Given the description of an element on the screen output the (x, y) to click on. 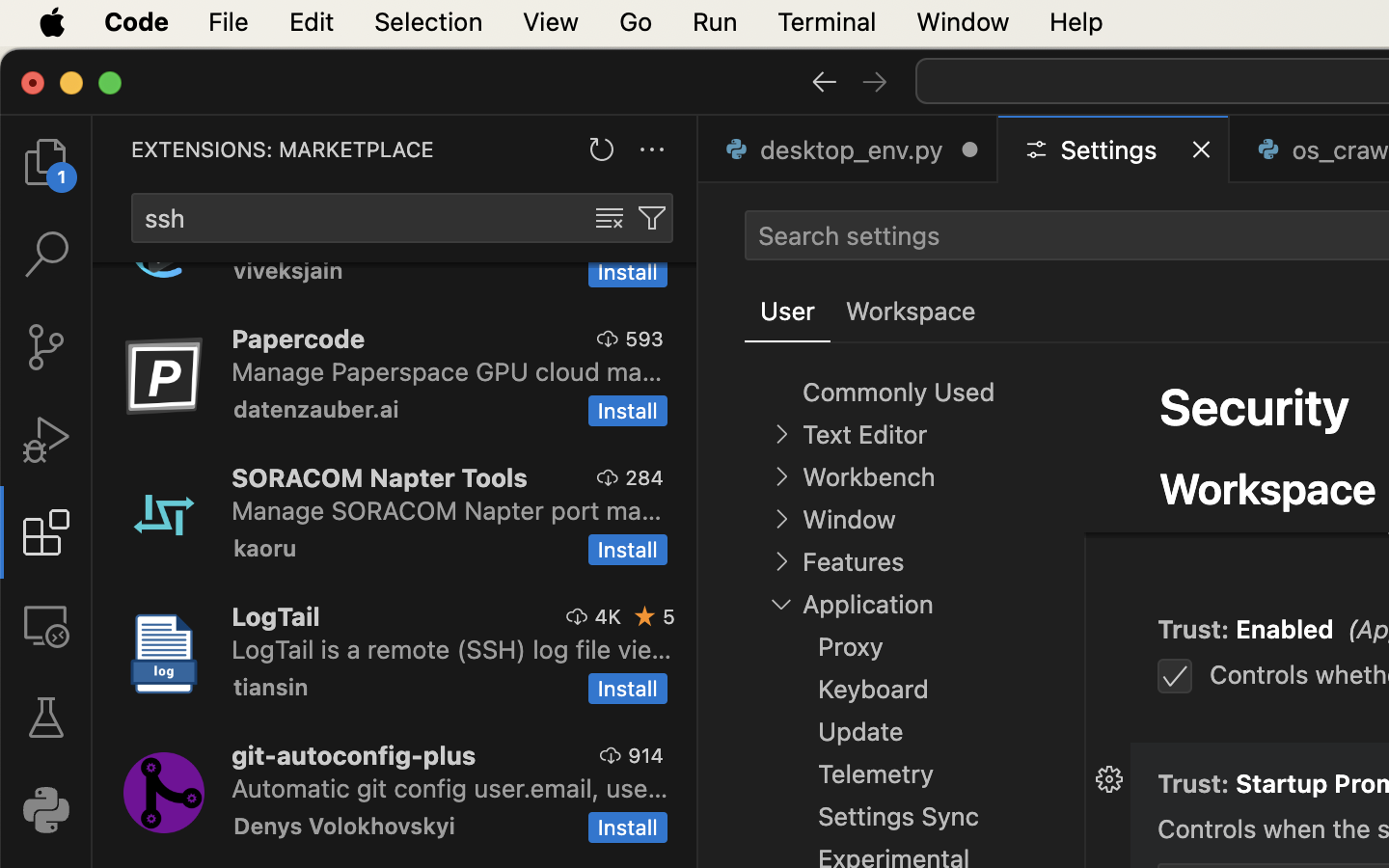
Security Element type: AXStaticText (1254, 406)
Keyboard Element type: AXStaticText (873, 689)
LogTail is a remote (SSH) log file viewer and monitoring extension. Element type: AXStaticText (452, 648)
914 Element type: AXStaticText (645, 754)
 Element type: AXButton (609, 217)
